Given the description of an element on the screen output the (x, y) to click on. 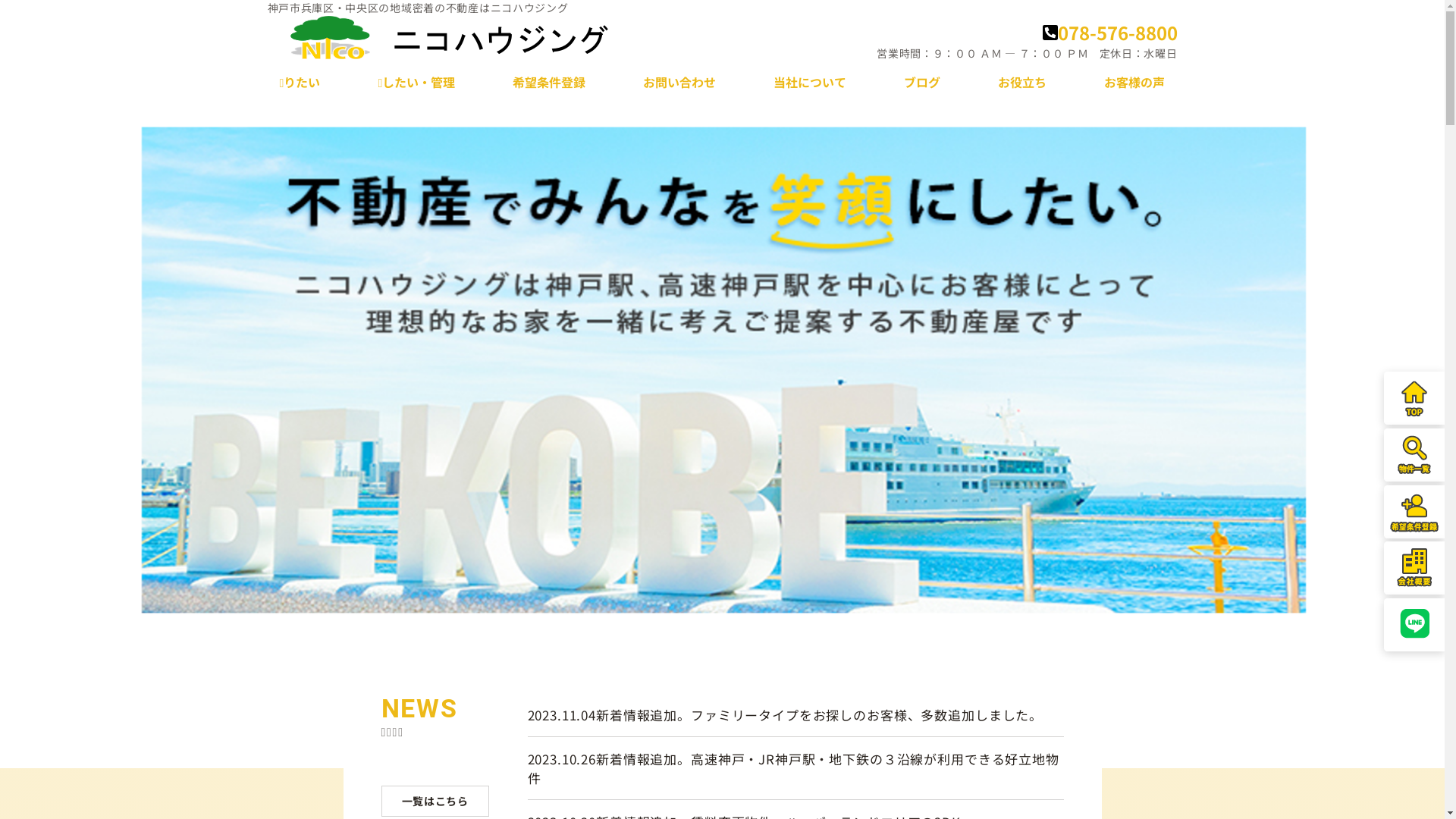
078-576-8800 Element type: text (1108, 31)
